Given the description of an element on the screen output the (x, y) to click on. 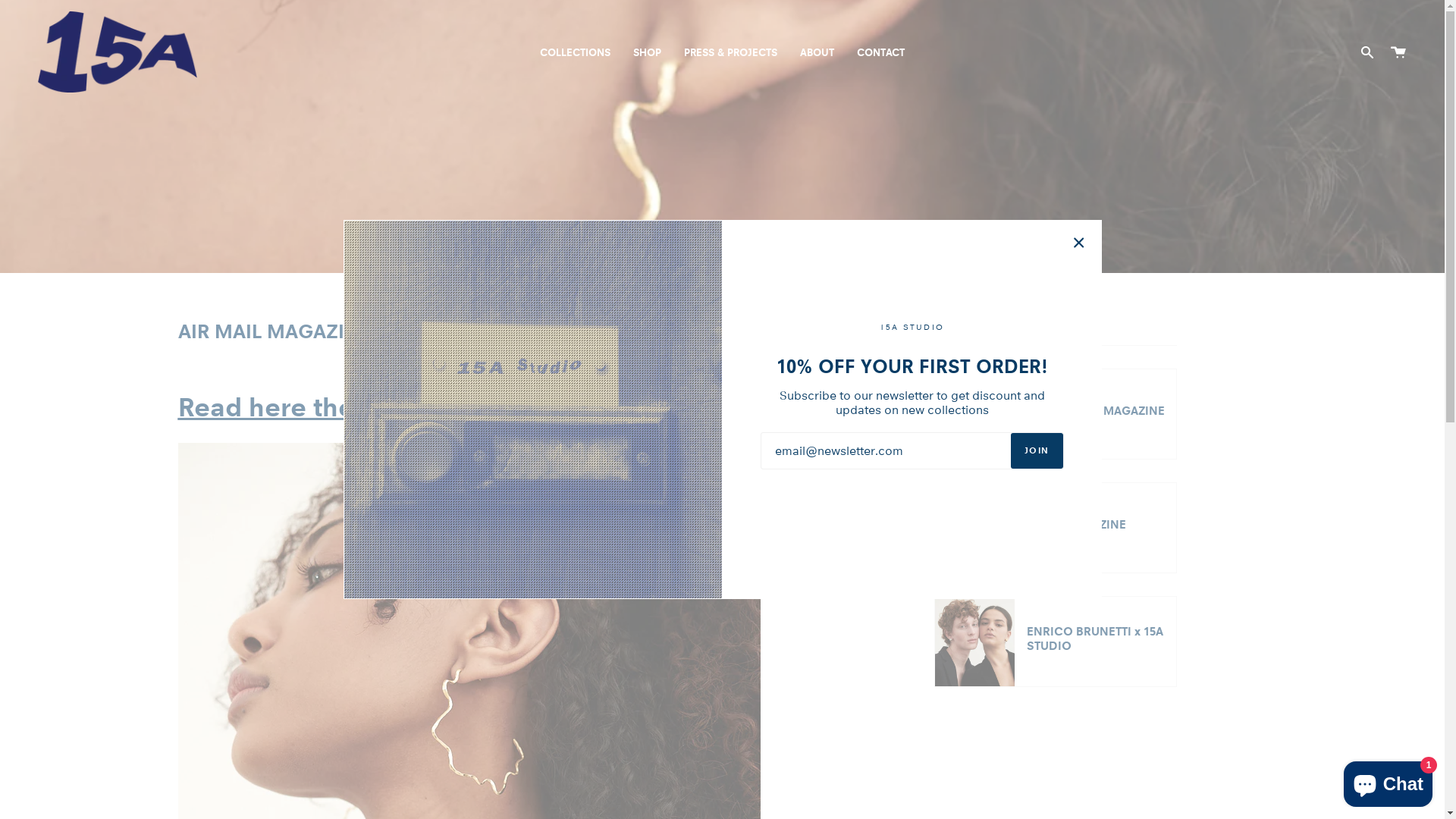
Read here the full article >> Element type: text (347, 407)
JOIN Element type: text (1036, 450)
ENRICO BRUNETTI x 15A STUDIO Element type: text (1055, 641)
CONTACT Element type: text (880, 51)
Close Element type: hover (1077, 242)
Cart Element type: text (1398, 51)
PRESS & PROJECTS Element type: text (730, 51)
SHOP Element type: text (646, 51)
ABOUT Element type: text (816, 51)
ALMANAQUE MAGAZINE Element type: text (1055, 413)
SPINE MAGAZINE Element type: text (1055, 527)
Shopify online store chat Element type: hover (1388, 780)
Search Element type: text (1367, 51)
COLLECTIONS Element type: text (574, 51)
